Given the description of an element on the screen output the (x, y) to click on. 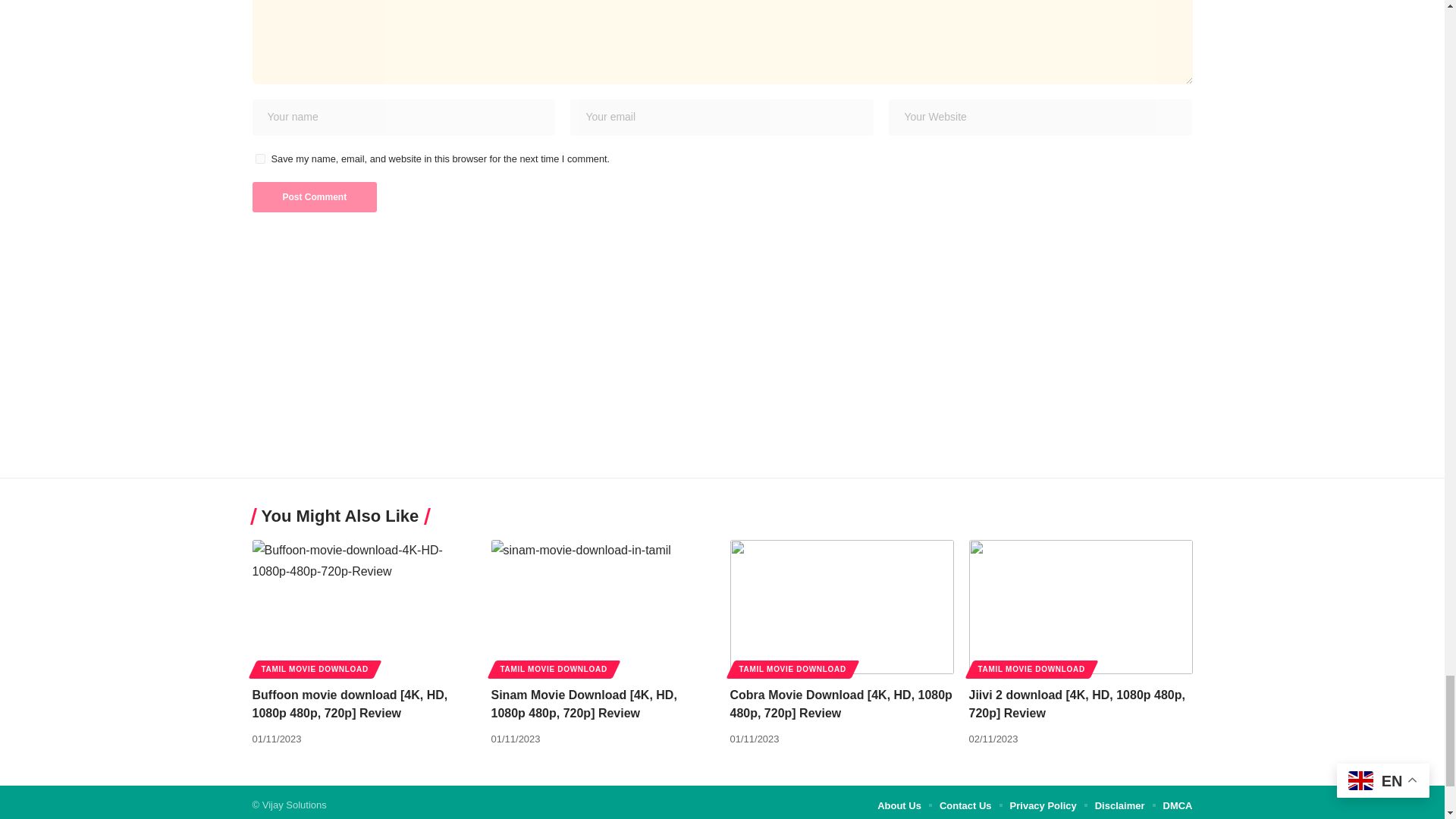
Post Comment (314, 196)
yes (259, 158)
